Given the description of an element on the screen output the (x, y) to click on. 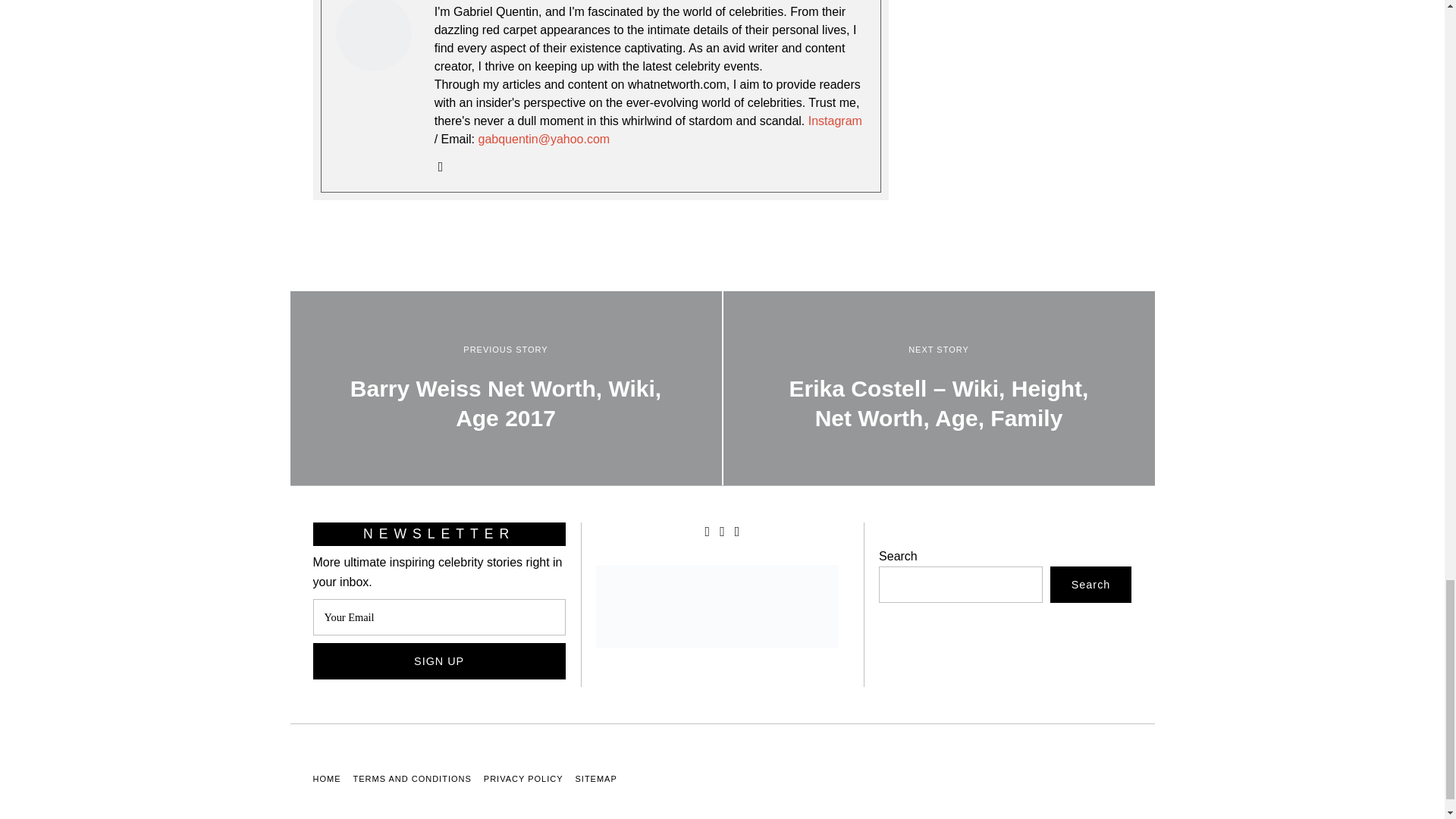
Sign up (438, 660)
